Given the description of an element on the screen output the (x, y) to click on. 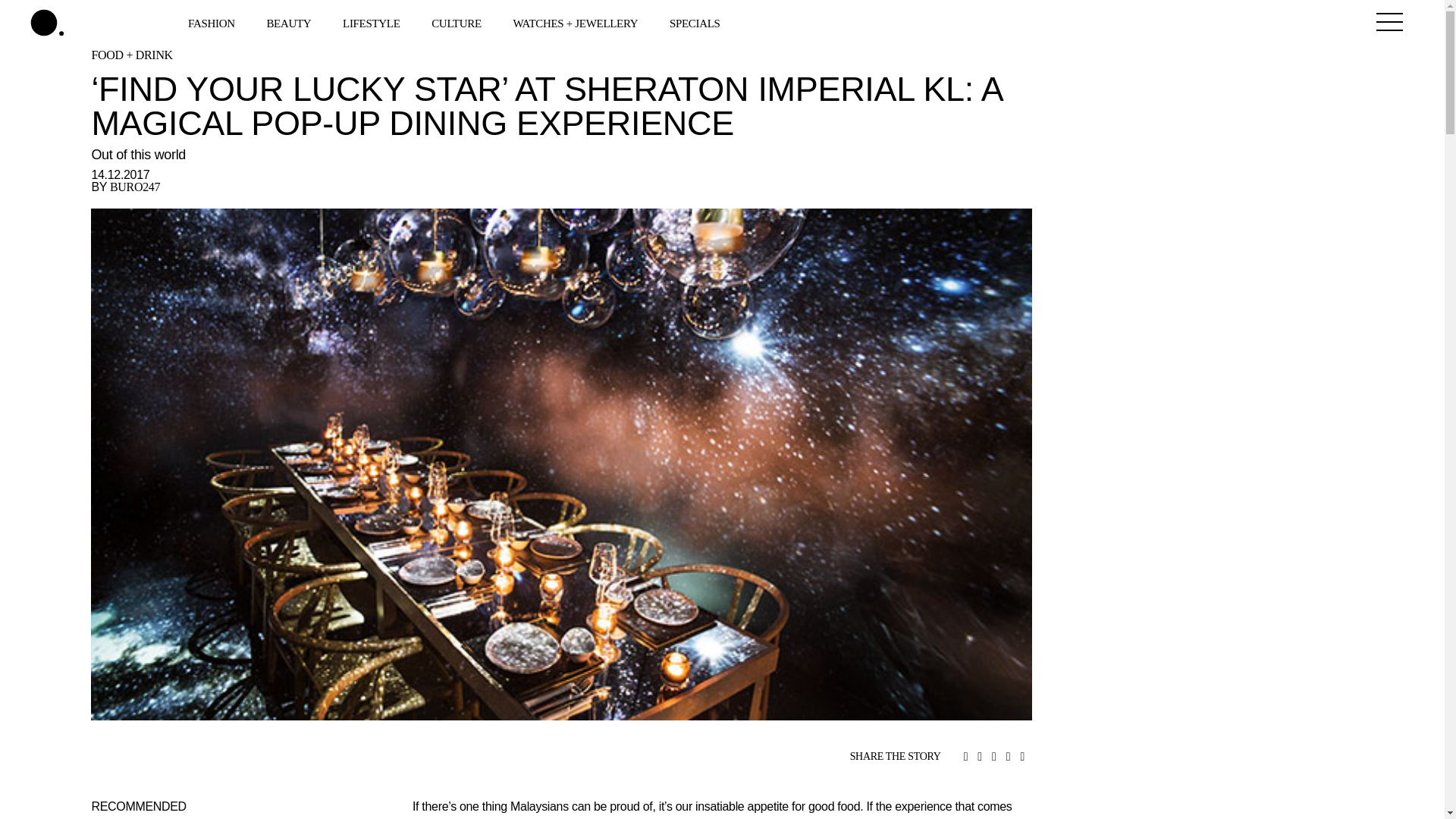
BEAUTY (290, 21)
SPECIALS (696, 21)
FASHION (212, 21)
CULTURE (457, 21)
LIFESTYLE (372, 21)
